Given the description of an element on the screen output the (x, y) to click on. 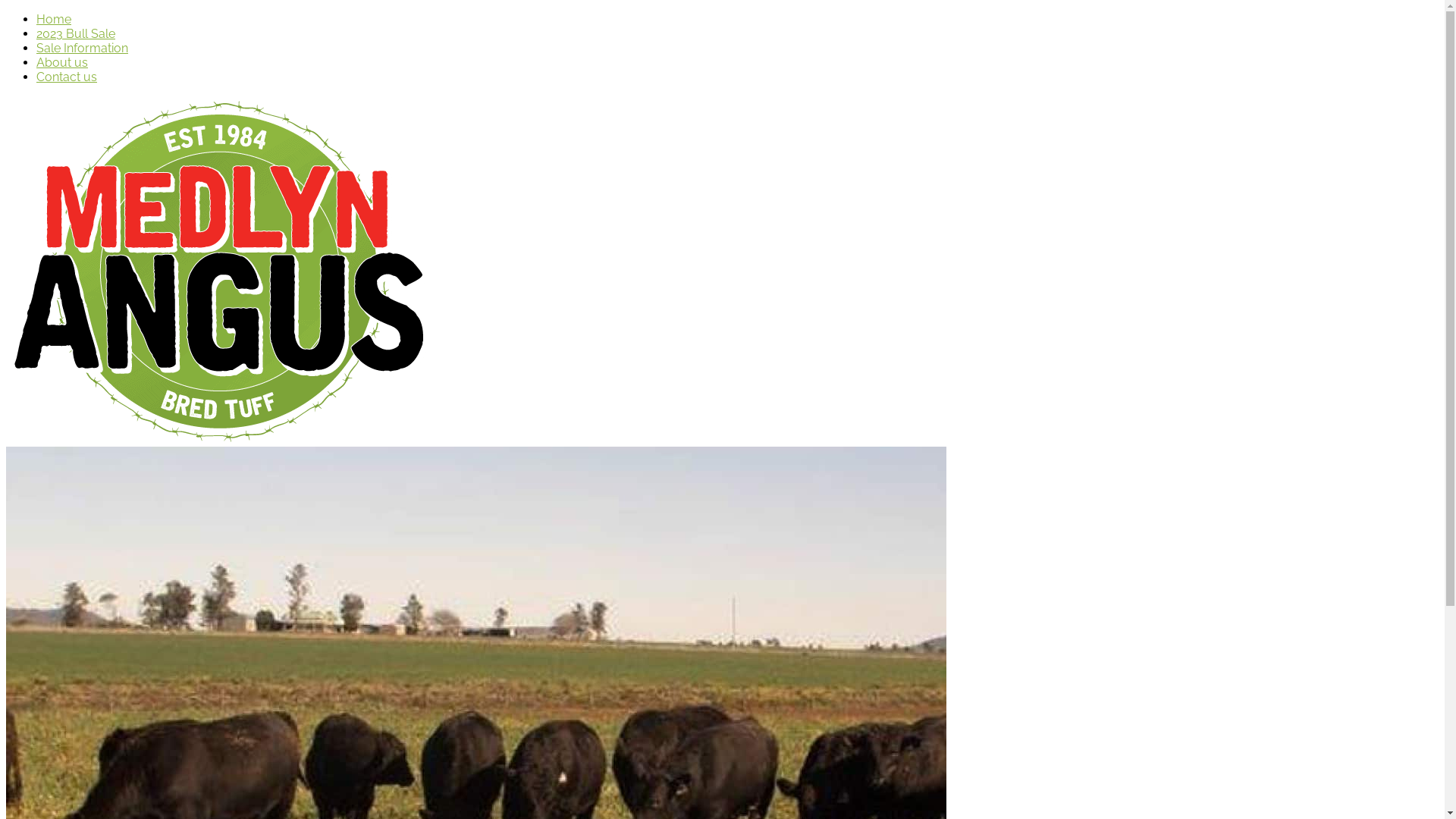
Home Element type: text (53, 19)
Sale Information Element type: text (82, 47)
About us Element type: text (61, 62)
2023 Bull Sale Element type: text (75, 33)
Contact us Element type: text (66, 76)
